Given the description of an element on the screen output the (x, y) to click on. 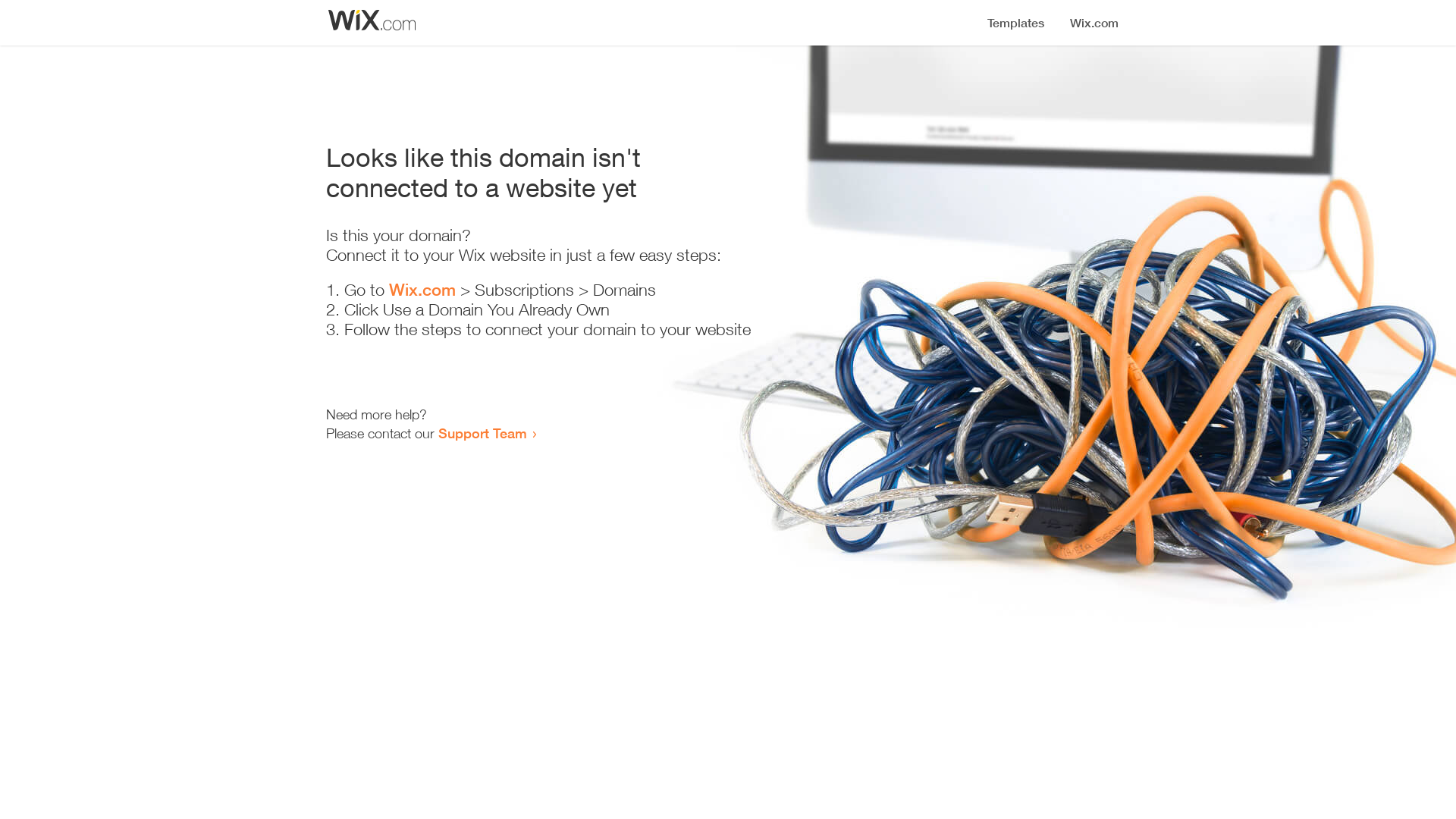
Wix.com Element type: text (422, 289)
Support Team Element type: text (482, 432)
